Given the description of an element on the screen output the (x, y) to click on. 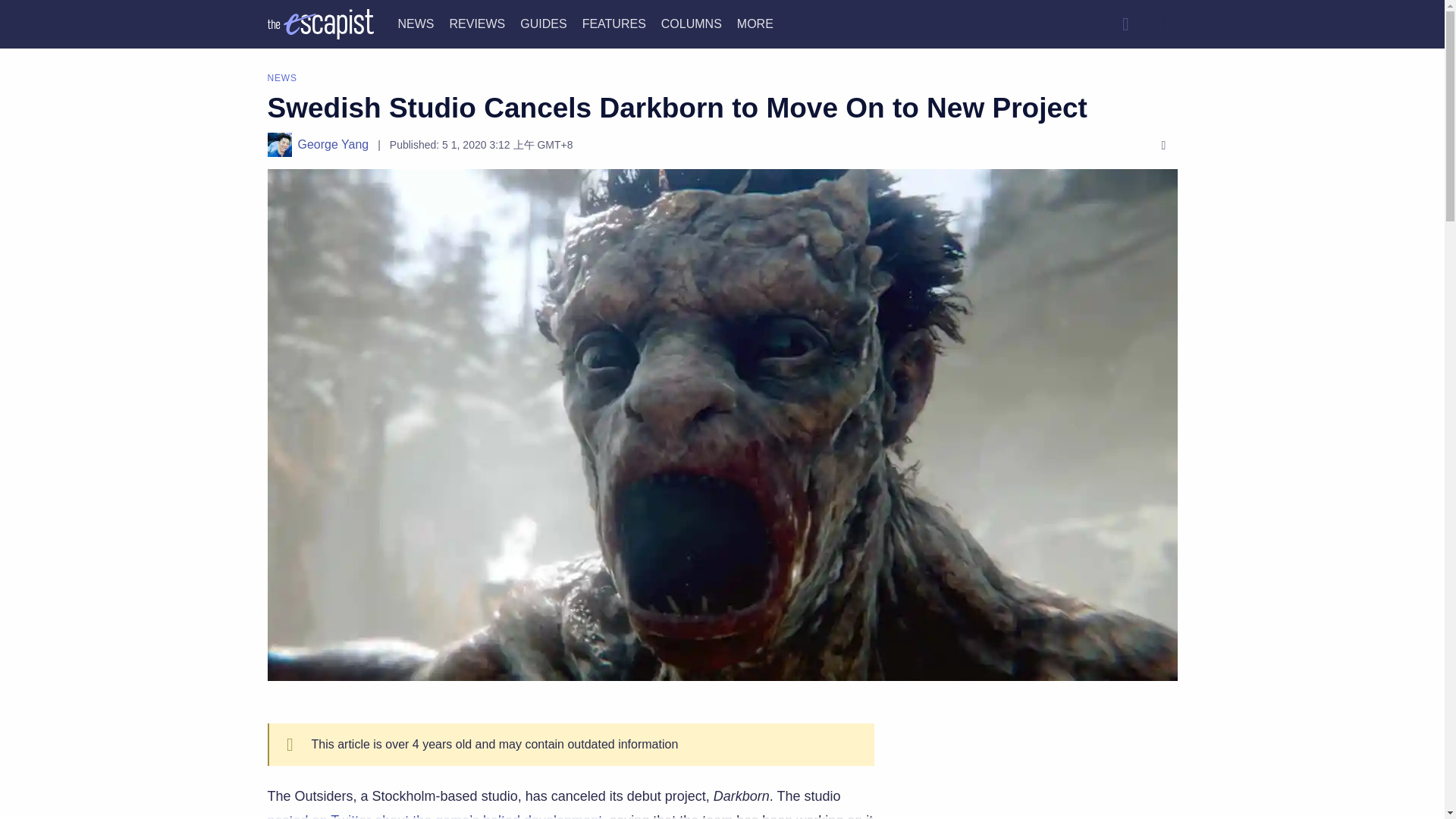
REVIEWS (476, 23)
FEATURES (614, 23)
GUIDES (542, 23)
COLUMNS (691, 23)
Dark Mode (1161, 24)
Search (1124, 24)
NEWS (415, 23)
